Given the description of an element on the screen output the (x, y) to click on. 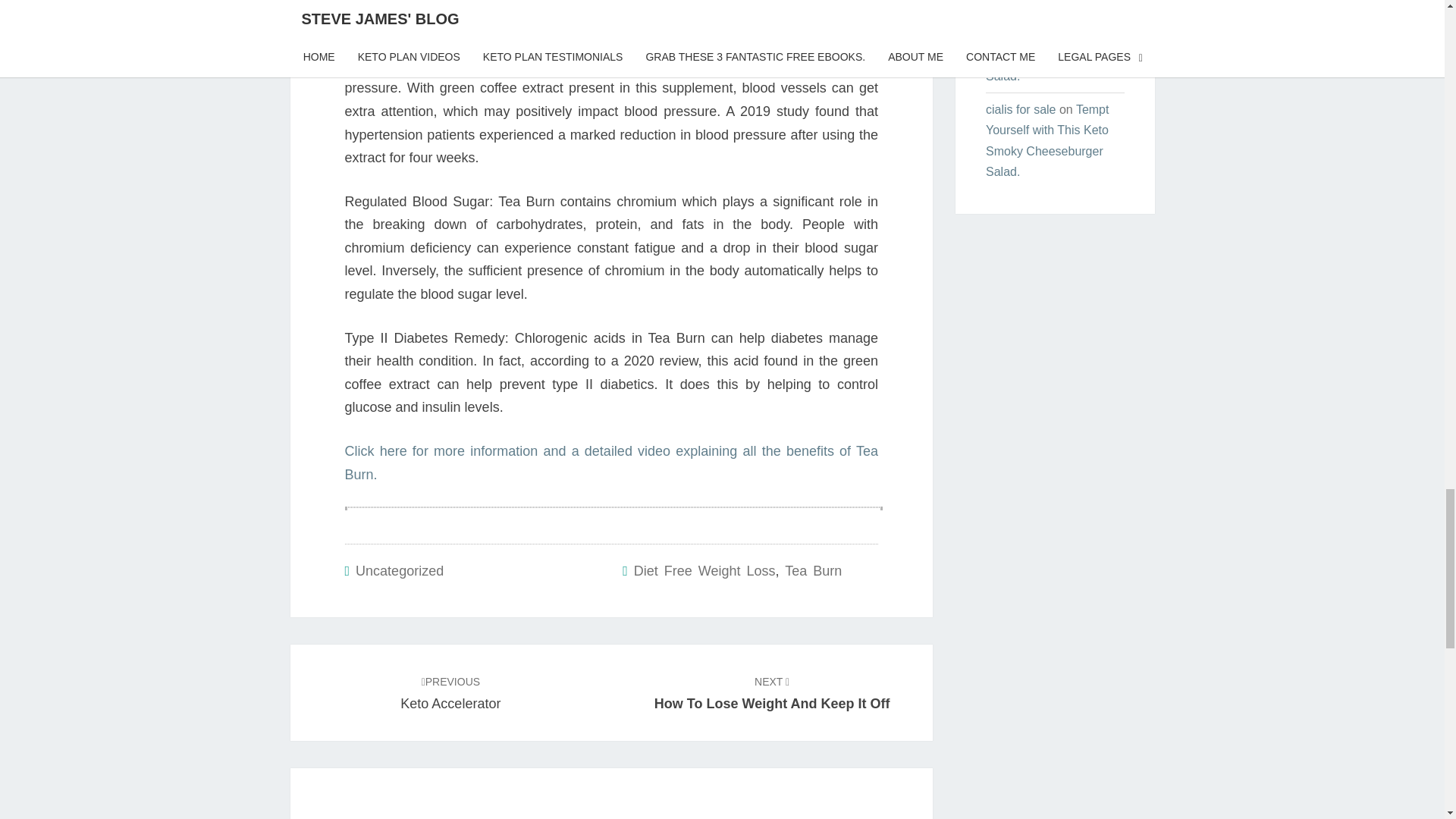
Tea Burn (812, 570)
Diet Free Weight Loss (771, 692)
Uncategorized (704, 570)
